Given the description of an element on the screen output the (x, y) to click on. 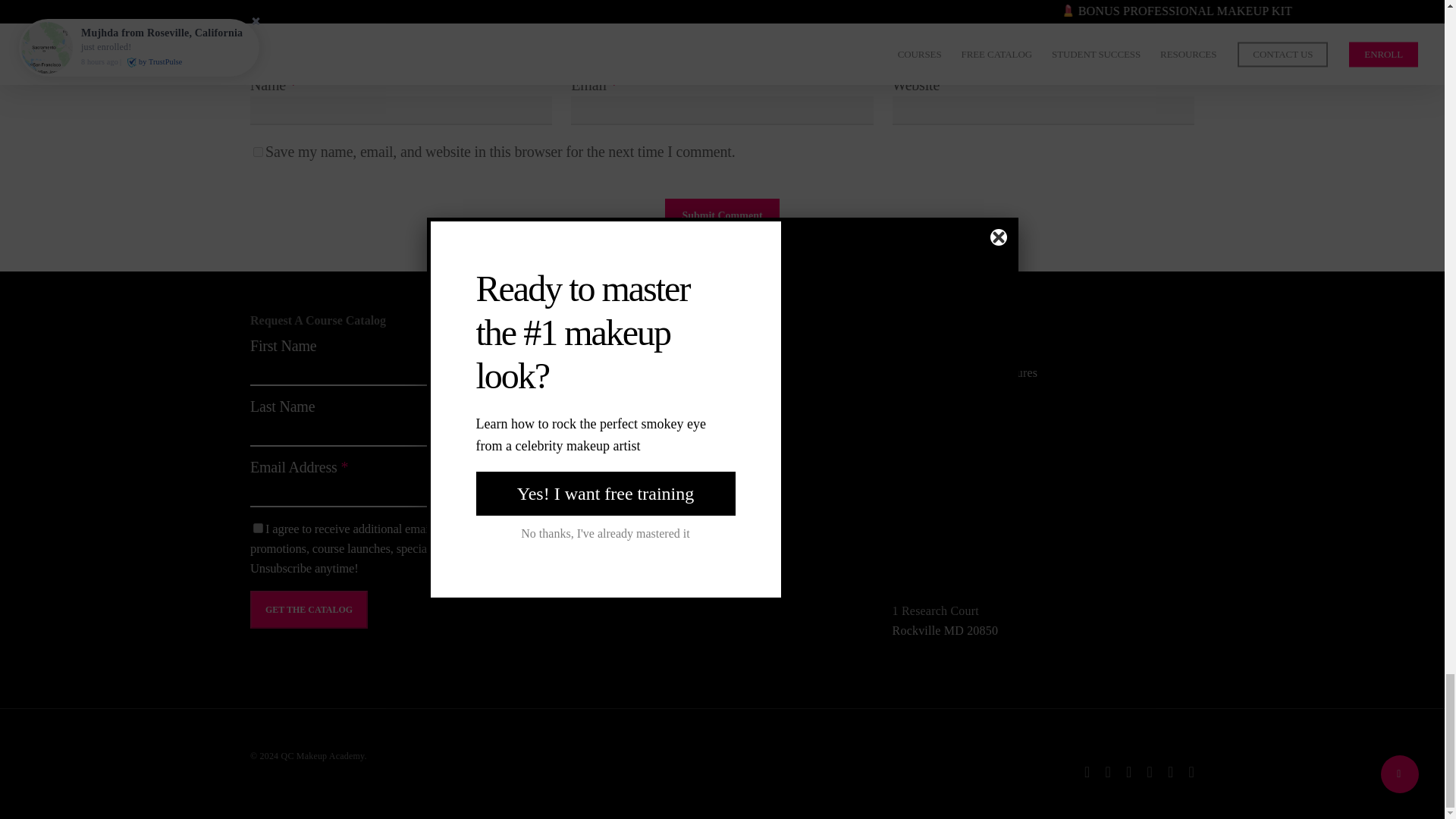
Submit Comment (721, 216)
yes (258, 152)
Yes (258, 528)
